Given the description of an element on the screen output the (x, y) to click on. 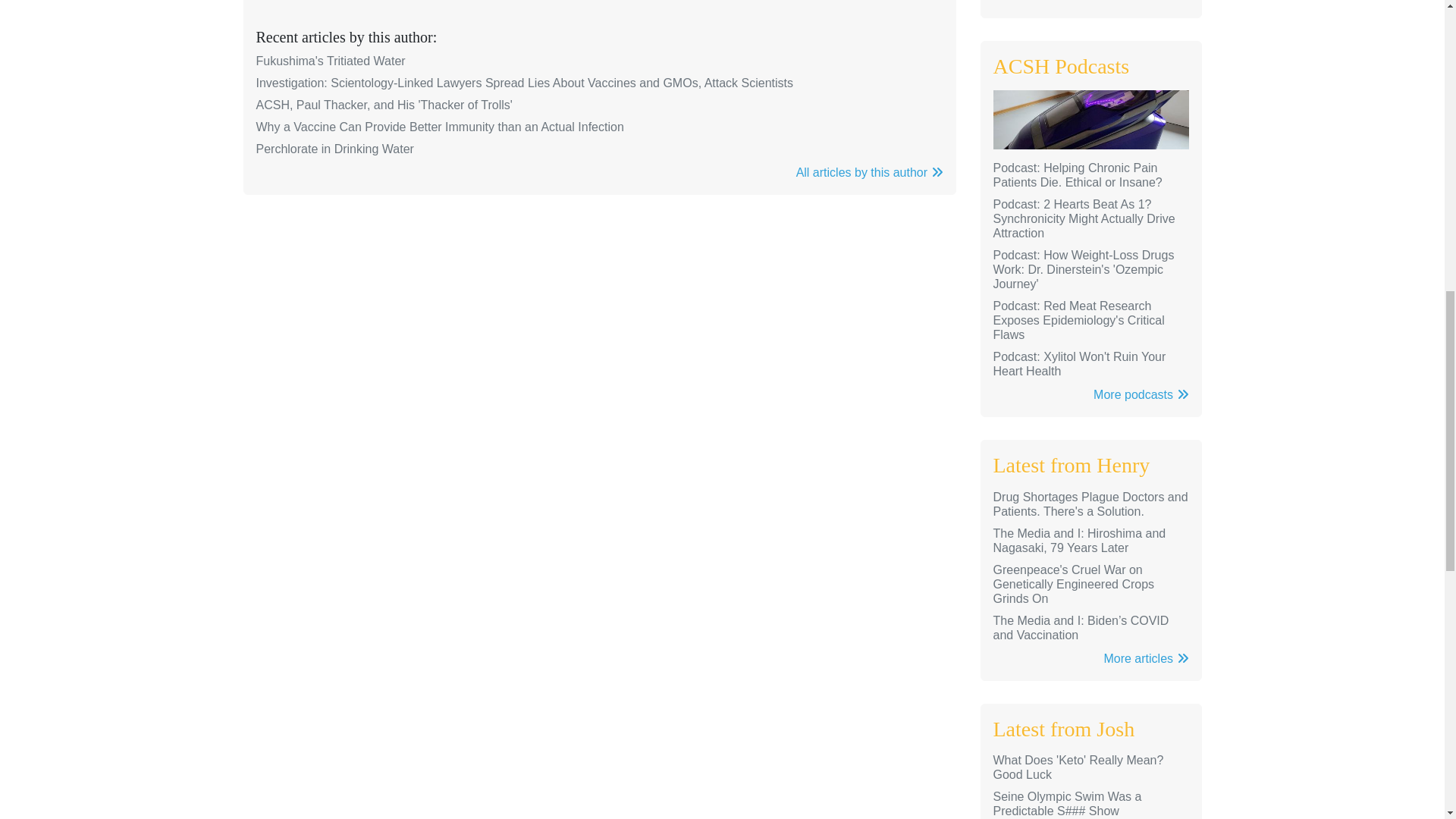
Fukushima's Tritiated Water (331, 60)
ACSH, Paul Thacker, and His 'Thacker of Trolls' (384, 104)
ACSH Staff (483, 1)
Perchlorate in Drinking Water (334, 148)
